Given the description of an element on the screen output the (x, y) to click on. 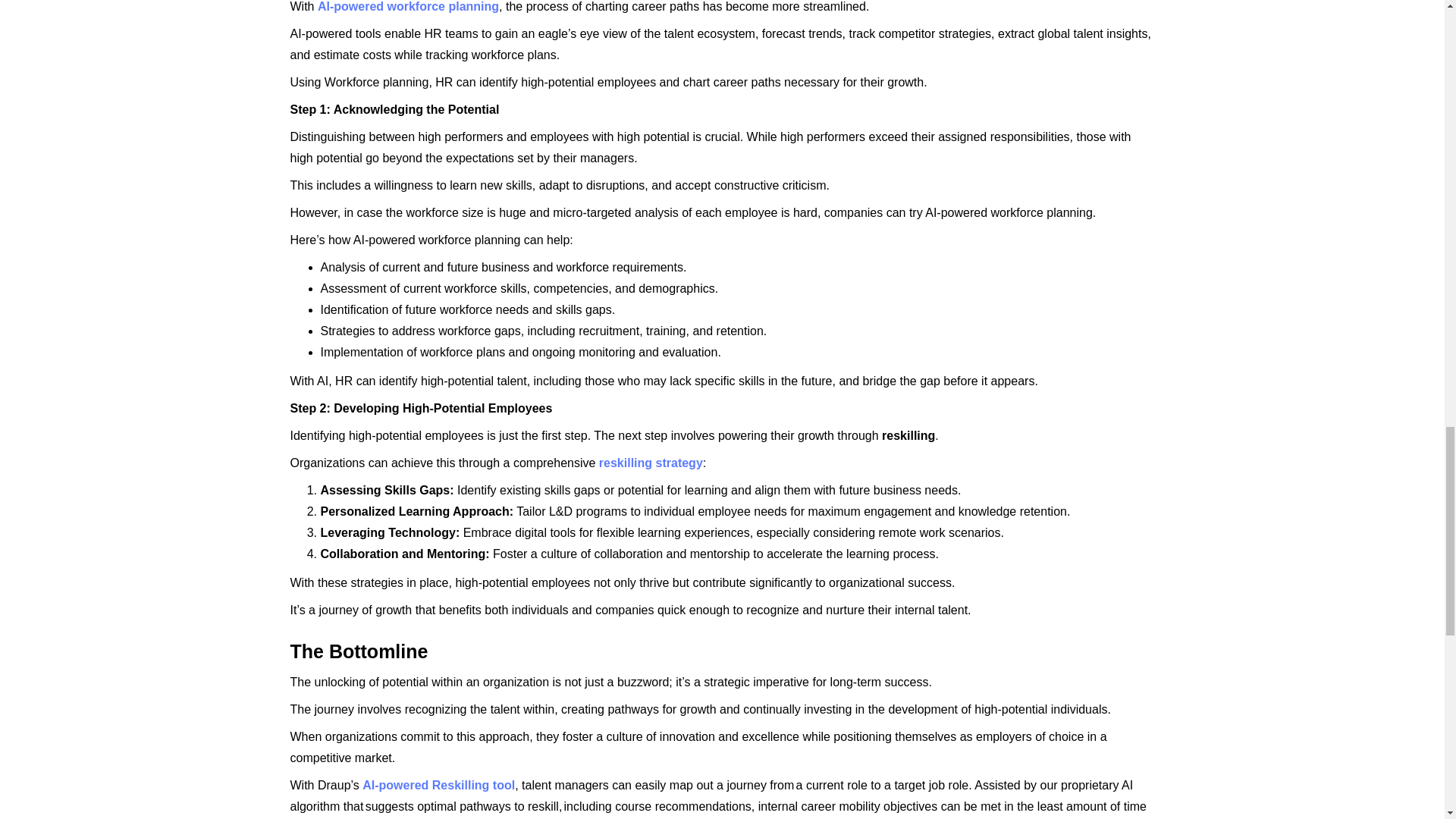
AI-powered workforce planning (408, 6)
AI-powered Reskilling tool (438, 784)
reskilling strategy (650, 462)
